Given the description of an element on the screen output the (x, y) to click on. 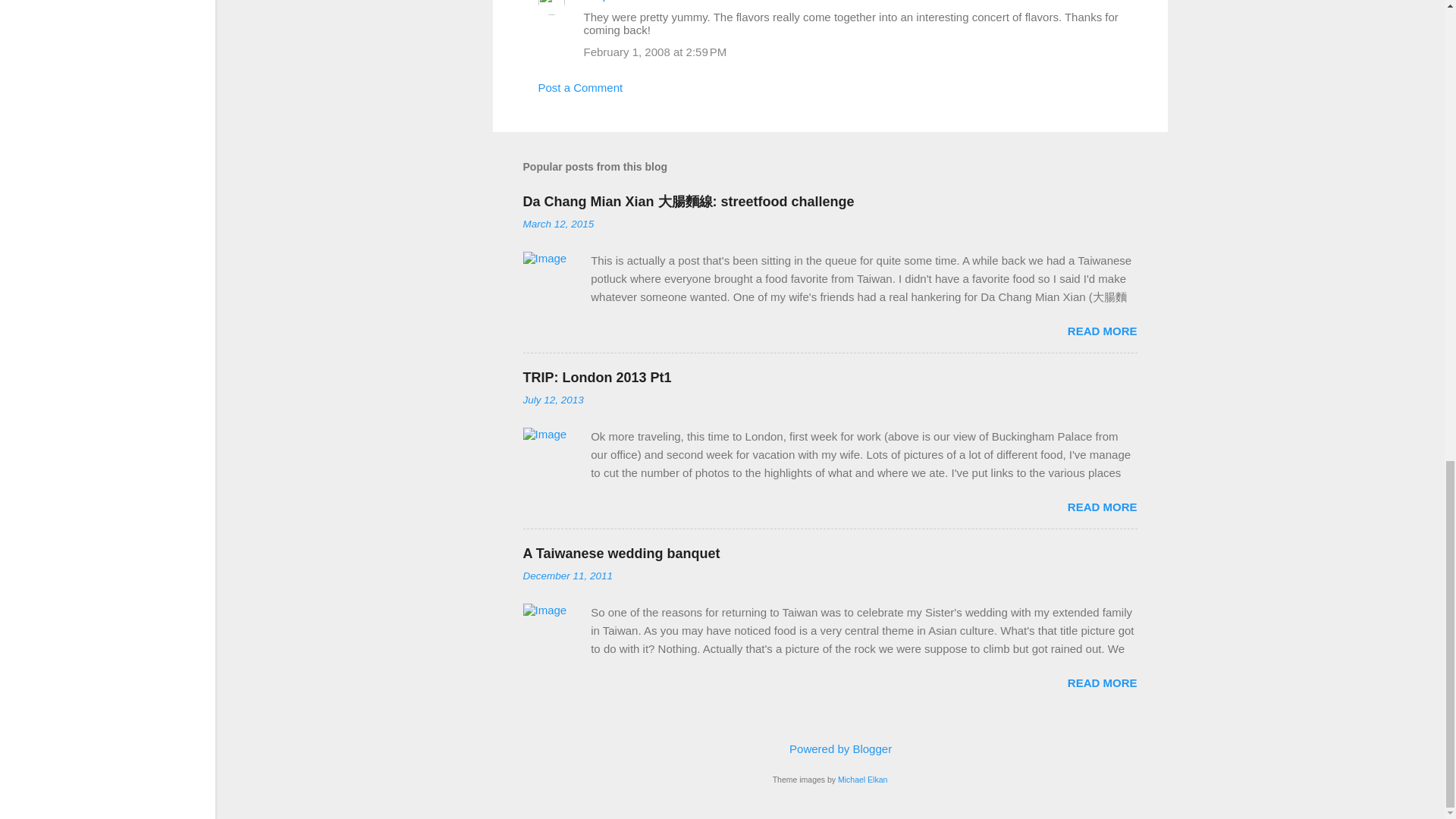
READ MORE (1102, 506)
March 12, 2015 (558, 224)
December 11, 2011 (567, 575)
July 12, 2013 (552, 399)
READ MORE (1102, 682)
Post a Comment (580, 87)
READ MORE (1102, 330)
Ironjack (603, 0)
A Taiwanese wedding banquet (621, 553)
